Given the description of an element on the screen output the (x, y) to click on. 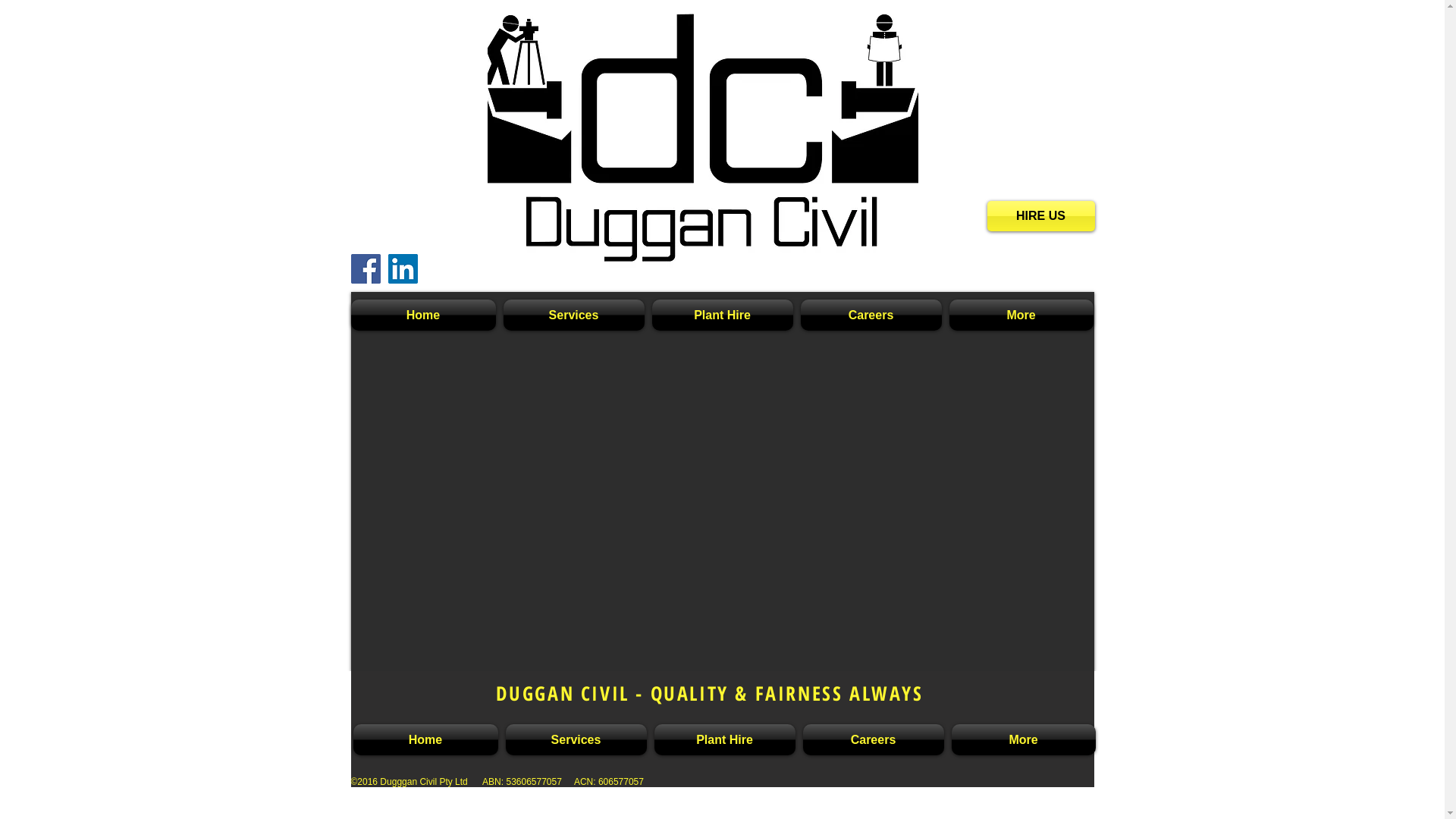
Home Element type: text (427, 739)
Plant Hire Element type: text (724, 739)
HIRE US Element type: text (1041, 215)
Plant Hire Element type: text (721, 314)
Careers Element type: text (873, 739)
Home Element type: text (424, 314)
Careers Element type: text (870, 314)
